Given the description of an element on the screen output the (x, y) to click on. 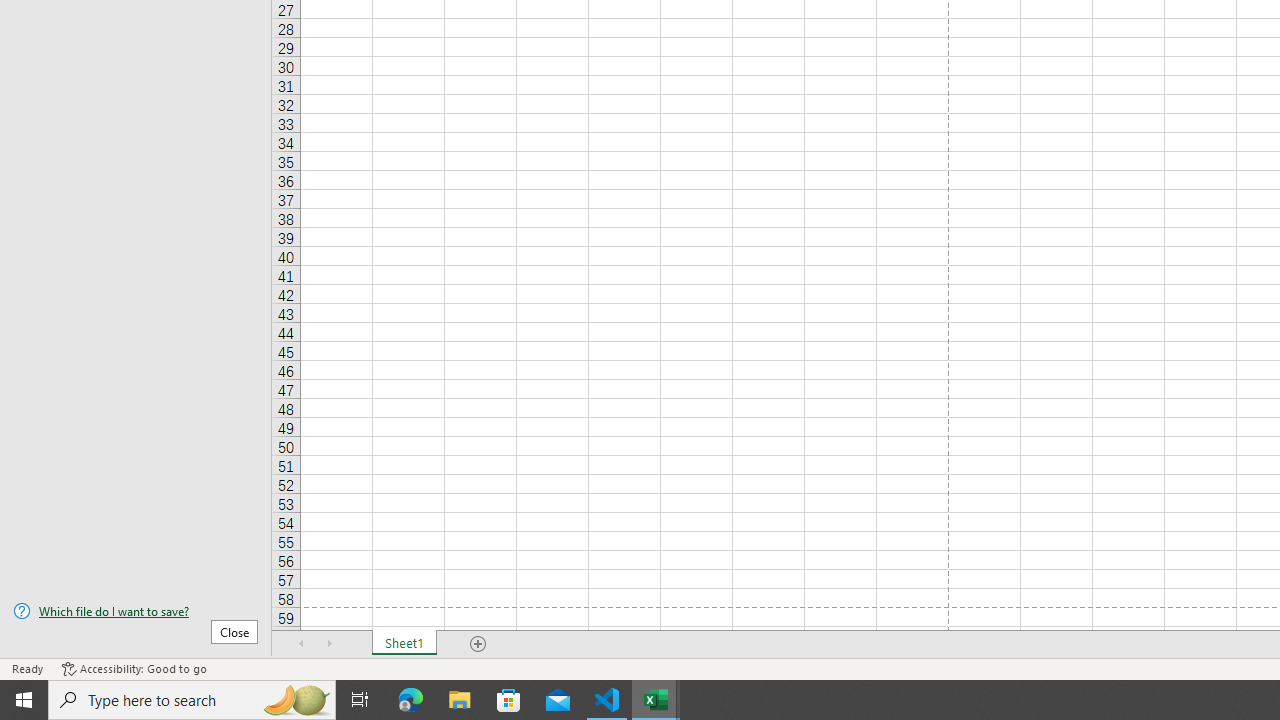
Scroll Left (302, 644)
Accessibility Checker Accessibility: Good to go (134, 668)
Add Sheet (478, 644)
Sheet1 (404, 644)
Close (234, 631)
Which file do I want to save? (136, 611)
Scroll Right (330, 644)
